Given the description of an element on the screen output the (x, y) to click on. 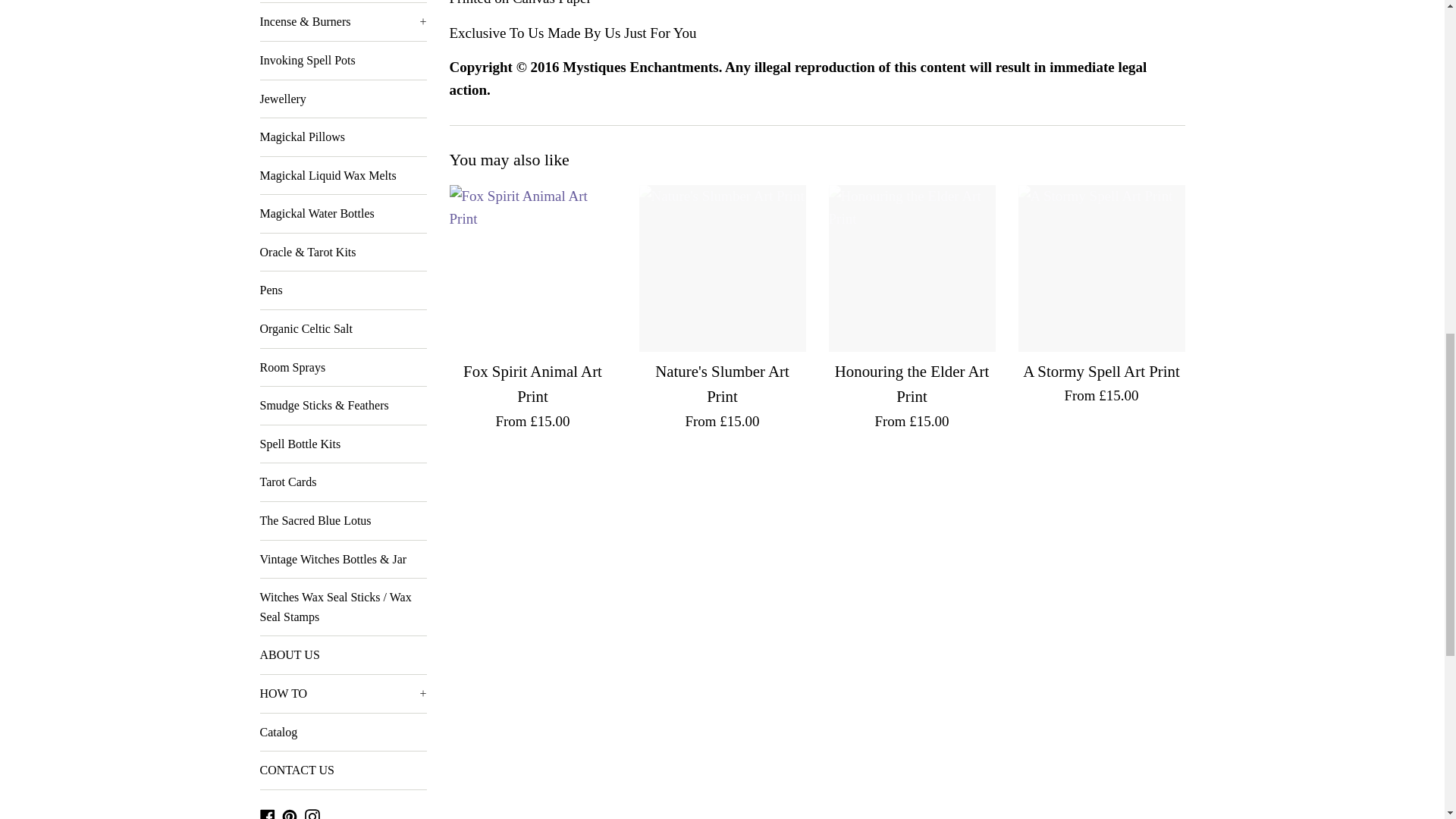
A Stormy Spell Art Print (1101, 268)
Nature's Slumber Art Print (722, 268)
Honouring the Elder Art Print (911, 268)
Fox Spirit Animal Art Print (531, 268)
